Given the description of an element on the screen output the (x, y) to click on. 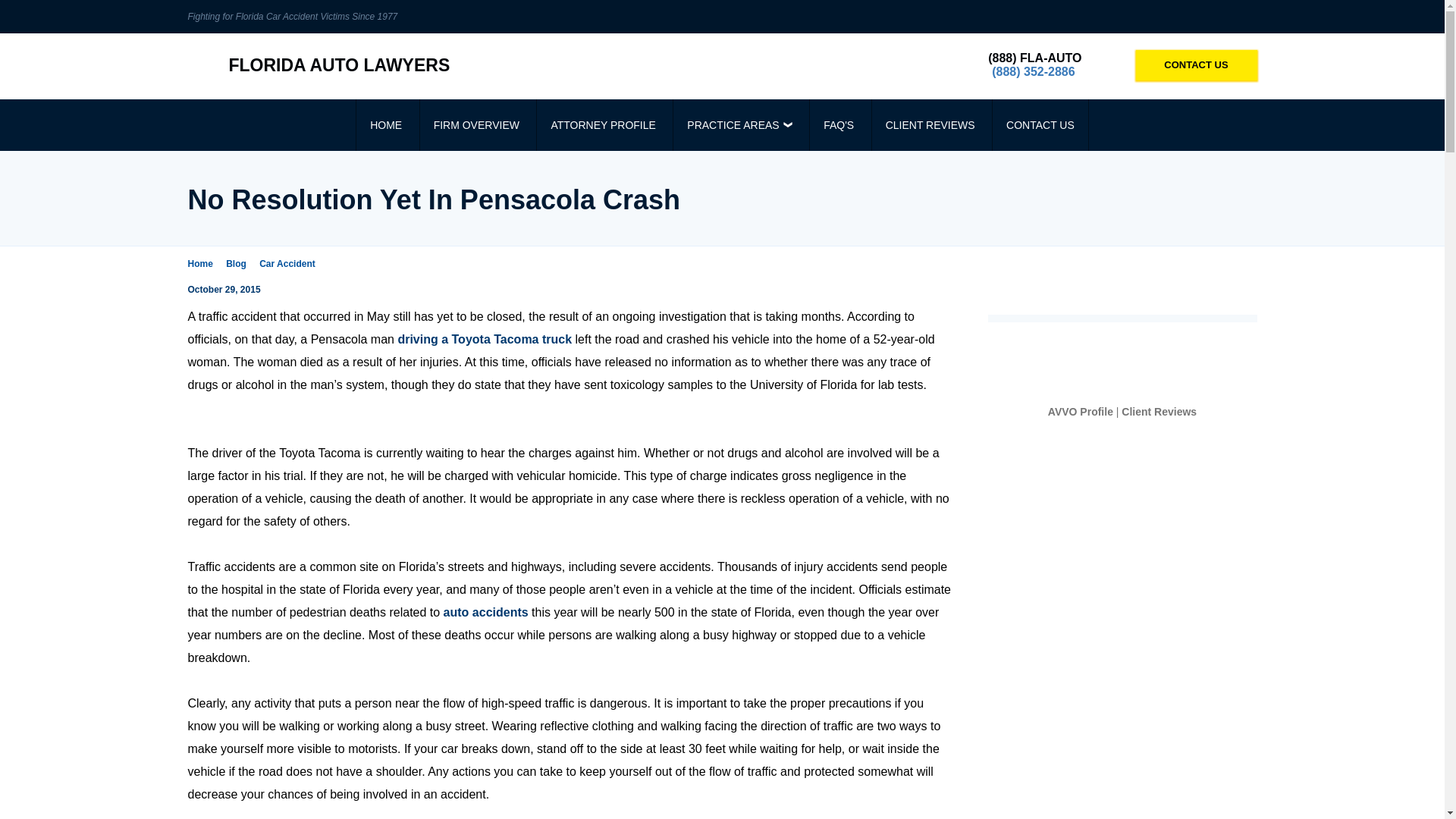
FIRM OVERVIEW (476, 124)
HOME (385, 124)
PRACTICE AREAS (738, 124)
FAQ'S (838, 124)
Blog (240, 263)
Home (204, 263)
CLIENT REVIEWS (930, 124)
CONTACT US (1196, 64)
Blog (240, 263)
Twitter (1245, 16)
ATTORNEY PROFILE (602, 124)
FLORIDA AUTO LAWYERS (318, 65)
CONTACT US (1039, 124)
LinkedIn (1198, 16)
Home (204, 263)
